Given the description of an element on the screen output the (x, y) to click on. 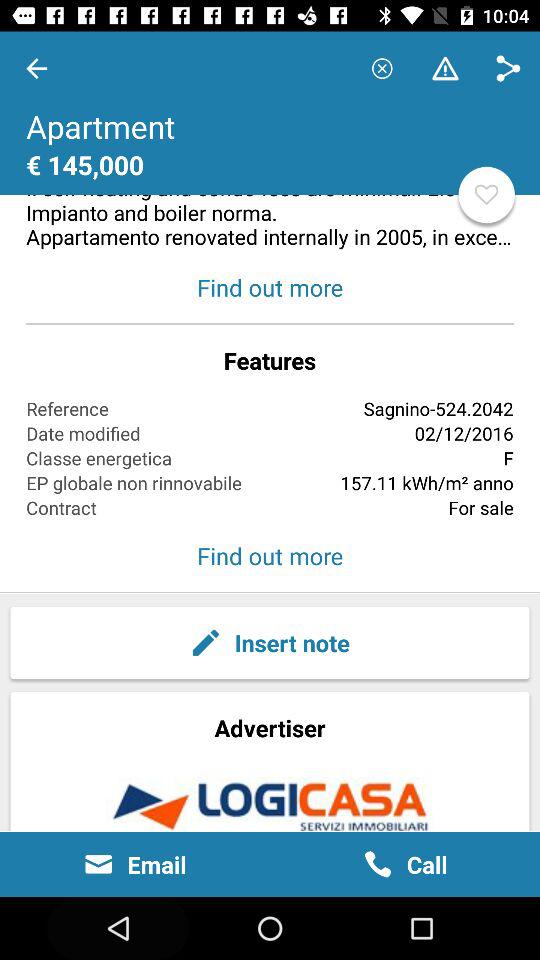
jump until como sagnino three icon (270, 141)
